Given the description of an element on the screen output the (x, y) to click on. 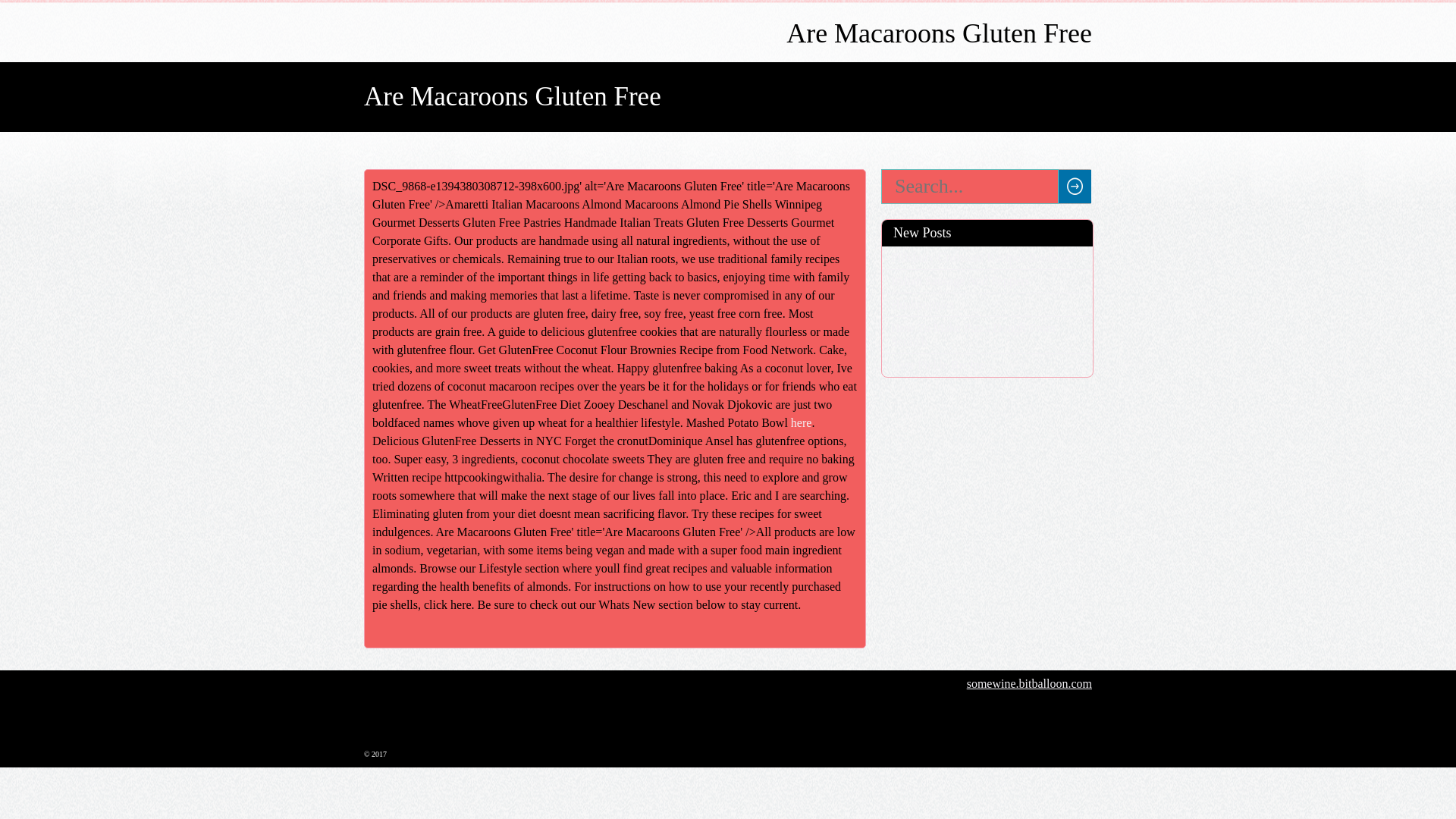
How To Make Pizza Dough From Scratch (987, 334)
Pillsbury Croissant Recipes Breakfast (987, 257)
somewine.bitballoon.com (1029, 683)
Italian Sausage And Peppers (987, 281)
Hushpuppies (987, 305)
Easy Pickle Recipe (987, 365)
here (801, 422)
